Given the description of an element on the screen output the (x, y) to click on. 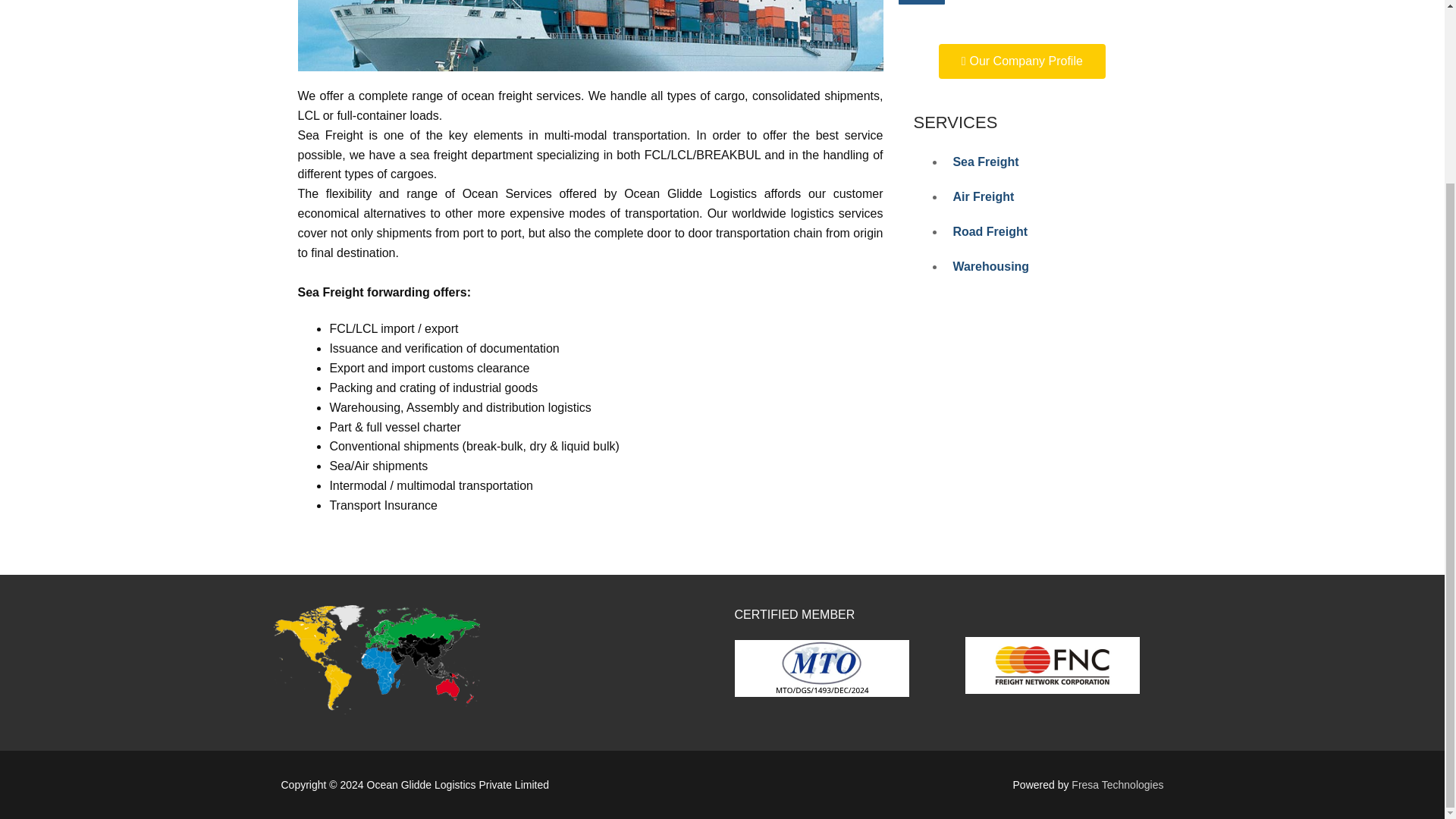
Warehousing (990, 266)
Sea Freight (984, 161)
Air Freight (982, 196)
Road Freight (989, 231)
Our Company Profile (1022, 61)
Fresa Technologies (1115, 784)
